Given the description of an element on the screen output the (x, y) to click on. 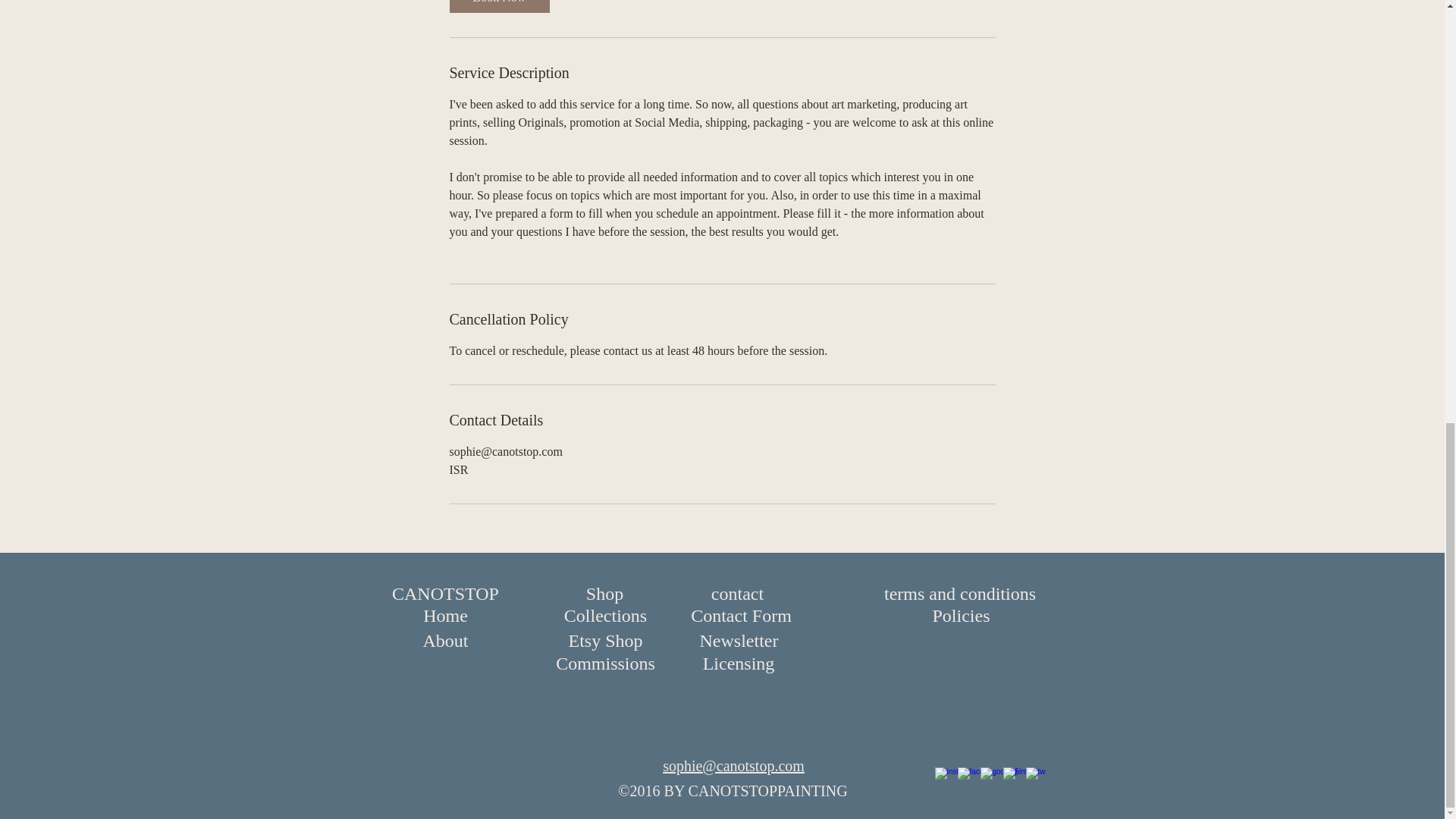
Collections (605, 616)
Etsy Shop (605, 641)
Book Now (498, 6)
Home (445, 616)
About (445, 641)
